Given the description of an element on the screen output the (x, y) to click on. 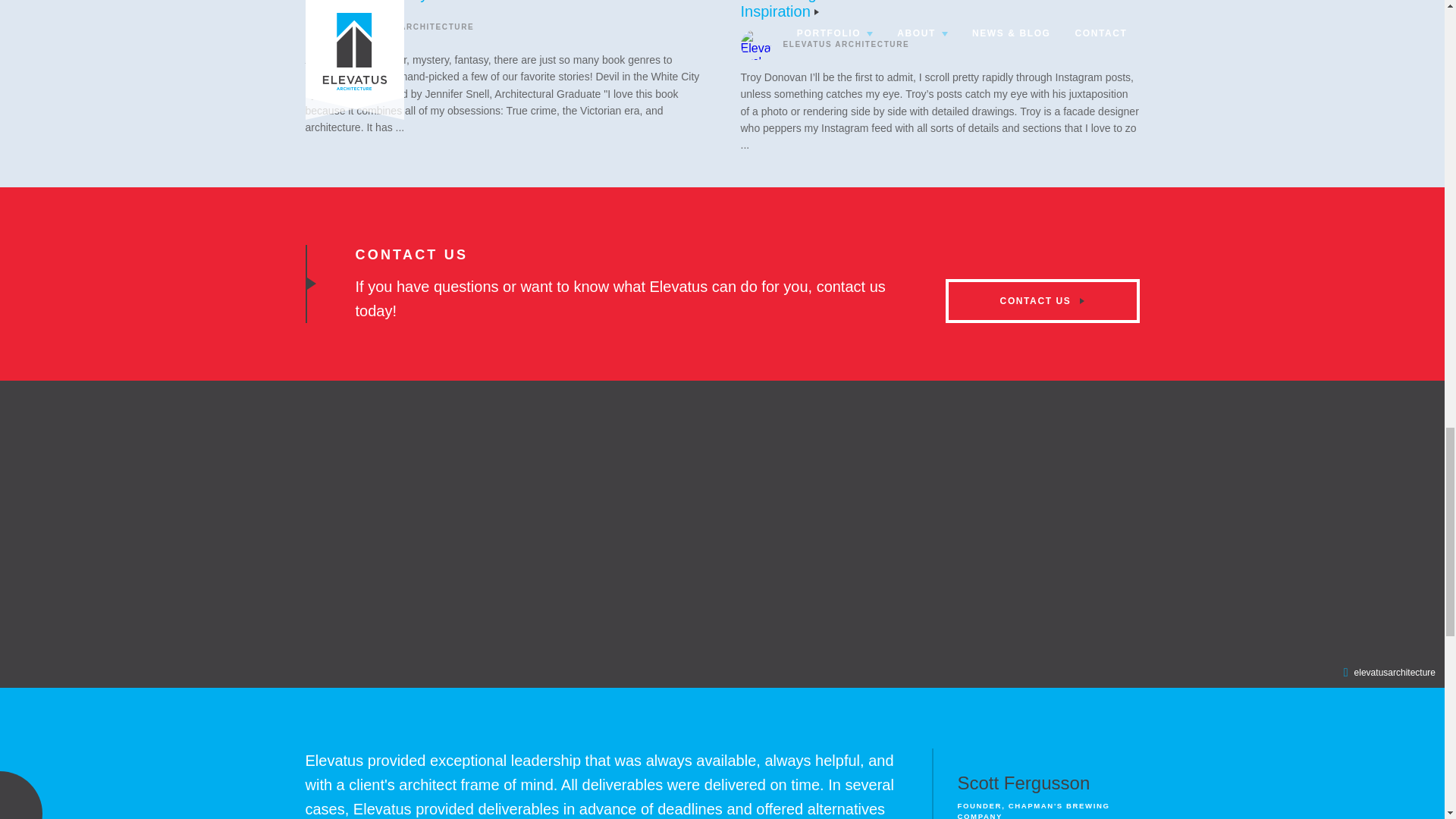
ELEVATUS ARCHITECTURE (389, 27)
CONTACT US (1041, 300)
Best Instagram Feeds To Follow For Architectural Inspiration (904, 9)
ELEVATUS ARCHITECTURE (823, 44)
